Given the description of an element on the screen output the (x, y) to click on. 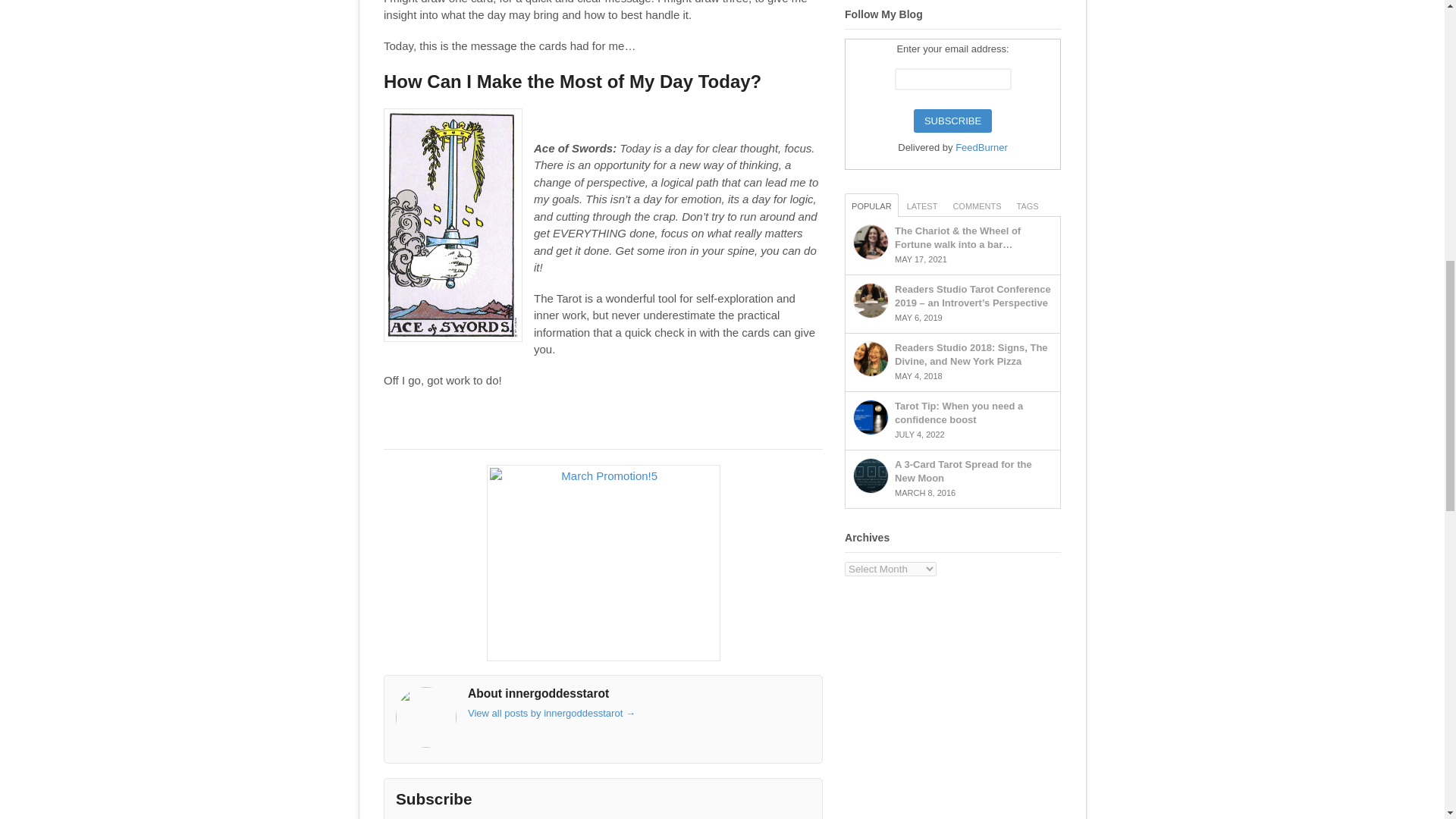
Subscribe (952, 120)
